Given the description of an element on the screen output the (x, y) to click on. 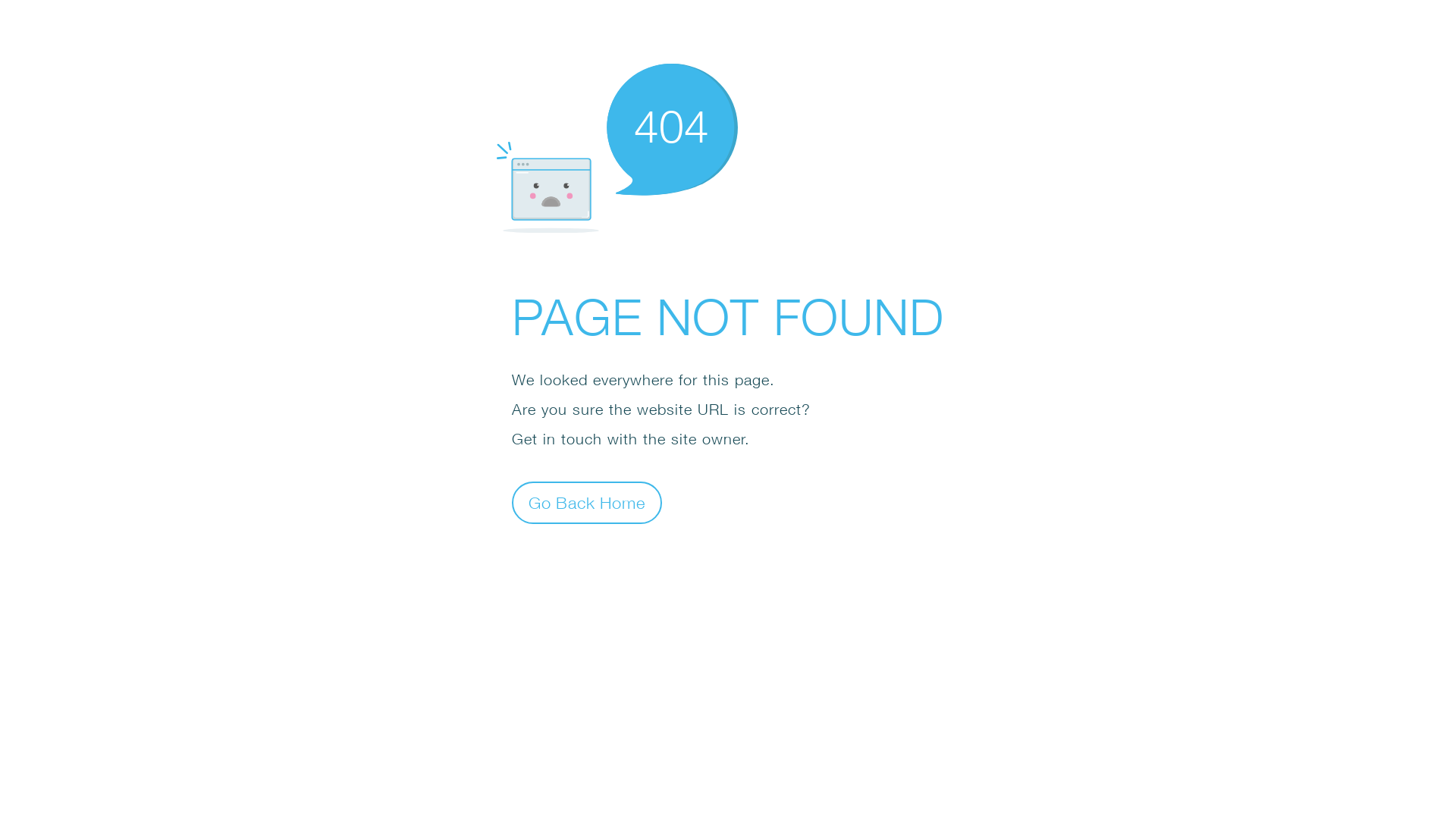
Go Back Home Element type: text (586, 502)
